Given the description of an element on the screen output the (x, y) to click on. 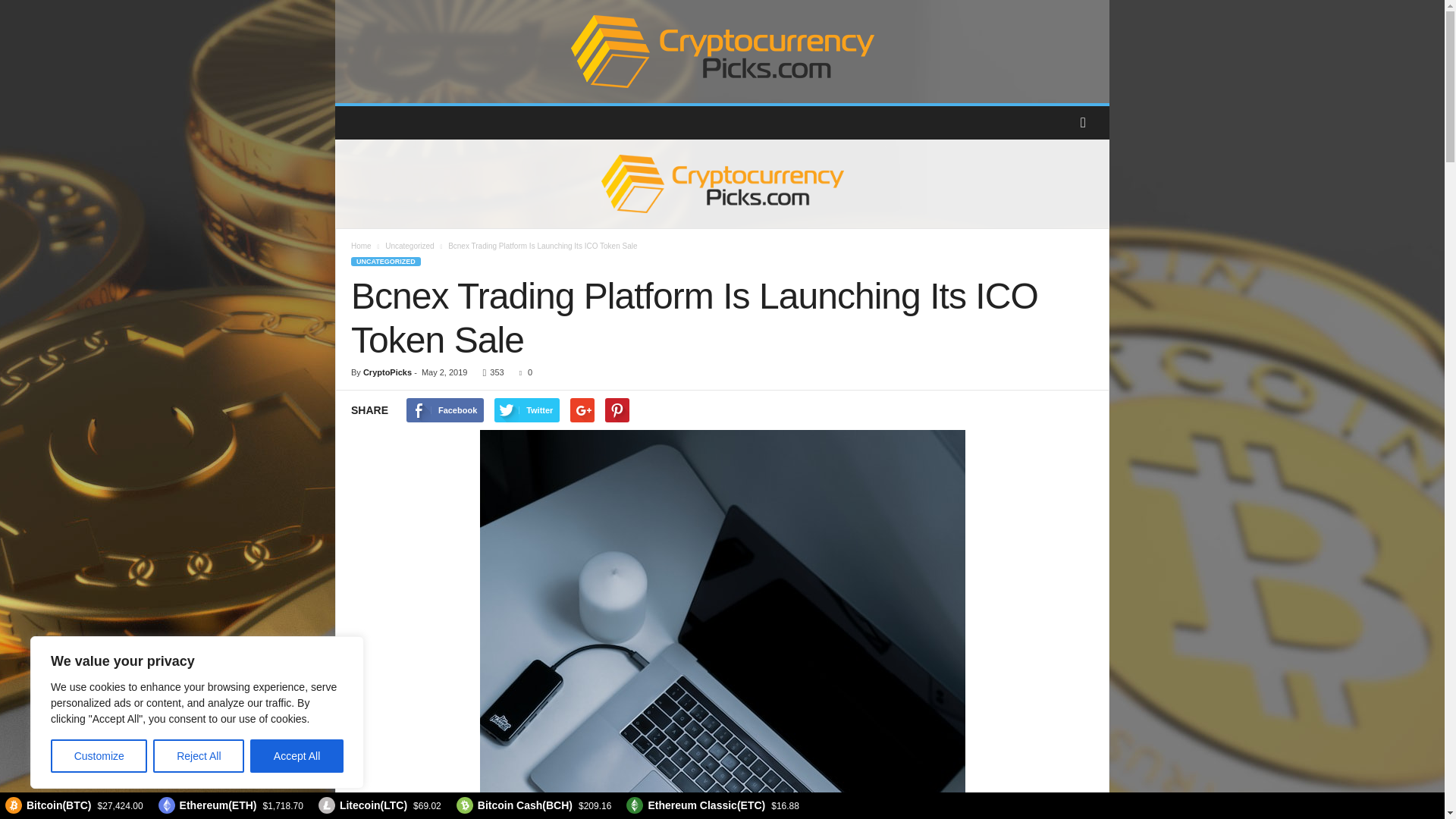
Uncategorized (410, 245)
Reject All (198, 756)
0 (522, 371)
Cryptocurrency Picks (721, 51)
Home (360, 245)
CryptoPicks (387, 371)
UNCATEGORIZED (385, 261)
View all posts in Uncategorized (410, 245)
Facebook (444, 410)
Customize (98, 756)
